Given the description of an element on the screen output the (x, y) to click on. 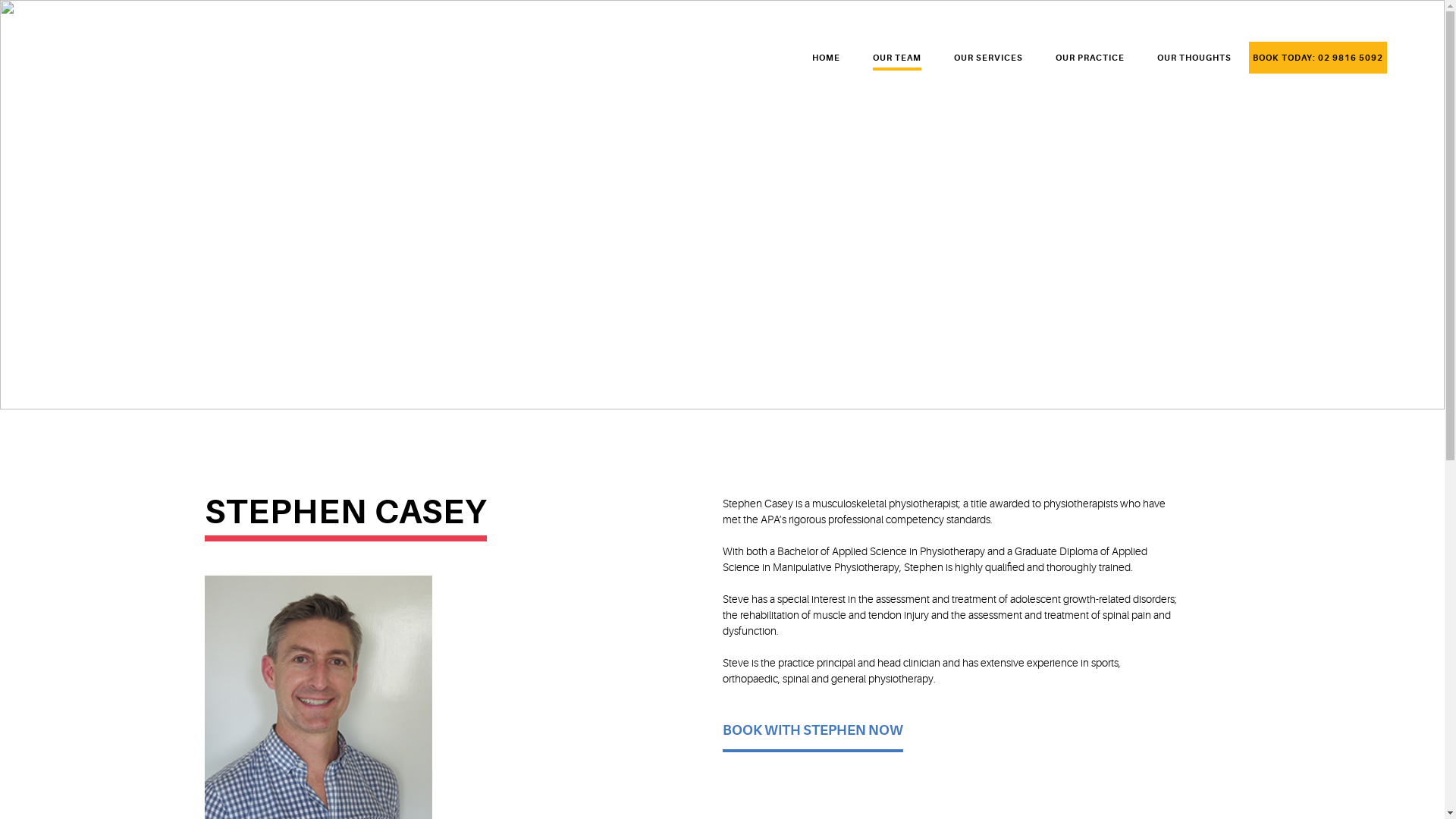
BOOK TODAY: 02 9816 5092 Element type: text (1317, 61)
HOME Element type: text (826, 61)
OUR PRACTICE Element type: text (1089, 61)
BOOK WITH STEPHEN NOW Element type: text (811, 737)
OUR THOUGHTS Element type: text (1194, 61)
OUR TEAM Element type: text (896, 61)
Jump to navigation Element type: text (0, 1)
Home Element type: hover (103, 48)
Back to top Element type: text (0, 0)
OUR SERVICES Element type: text (987, 61)
